Given the description of an element on the screen output the (x, y) to click on. 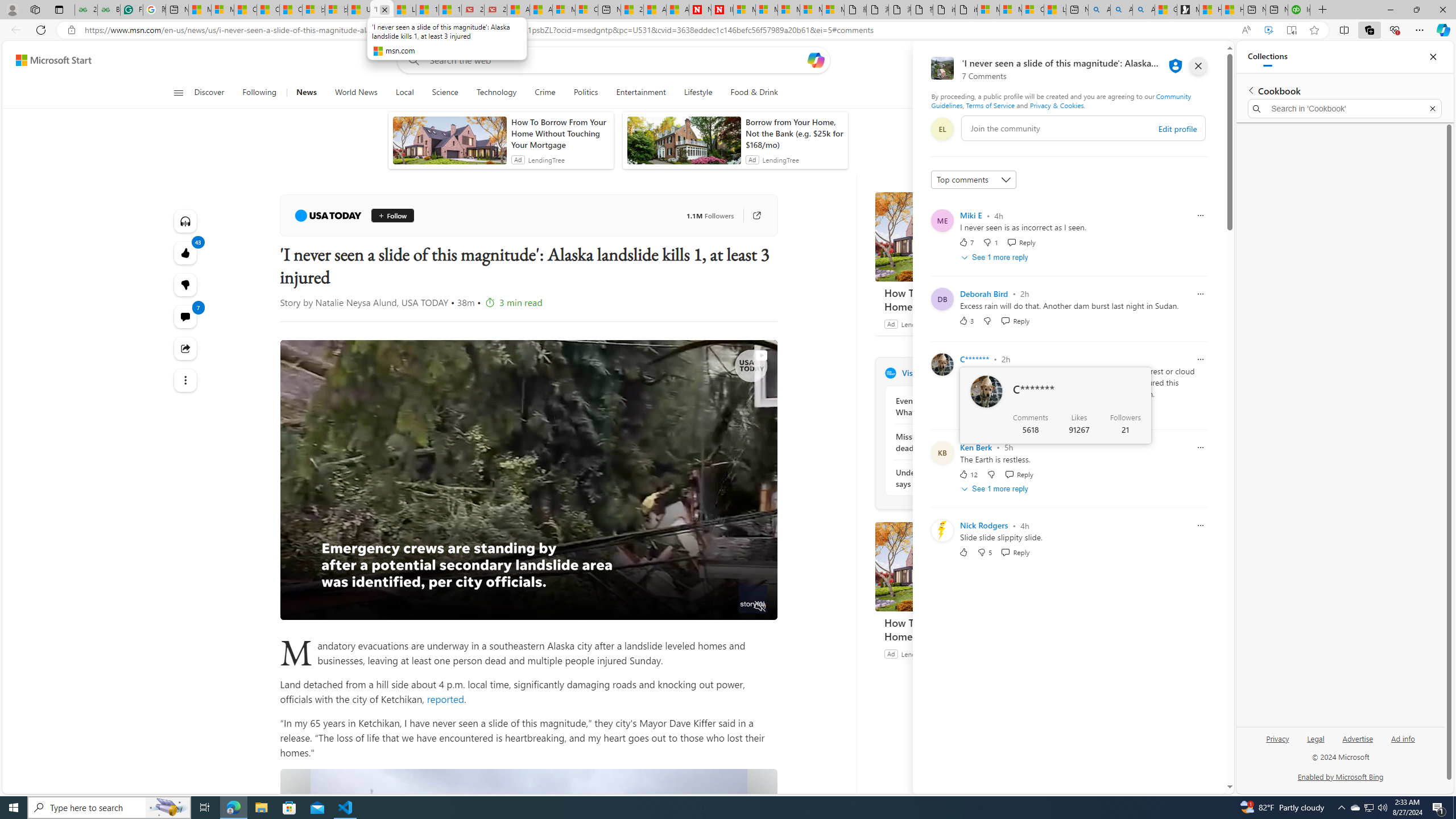
Progress Bar (528, 592)
Nick Rodgers (984, 525)
Seek Back (319, 606)
Unmute (759, 606)
